Given the description of an element on the screen output the (x, y) to click on. 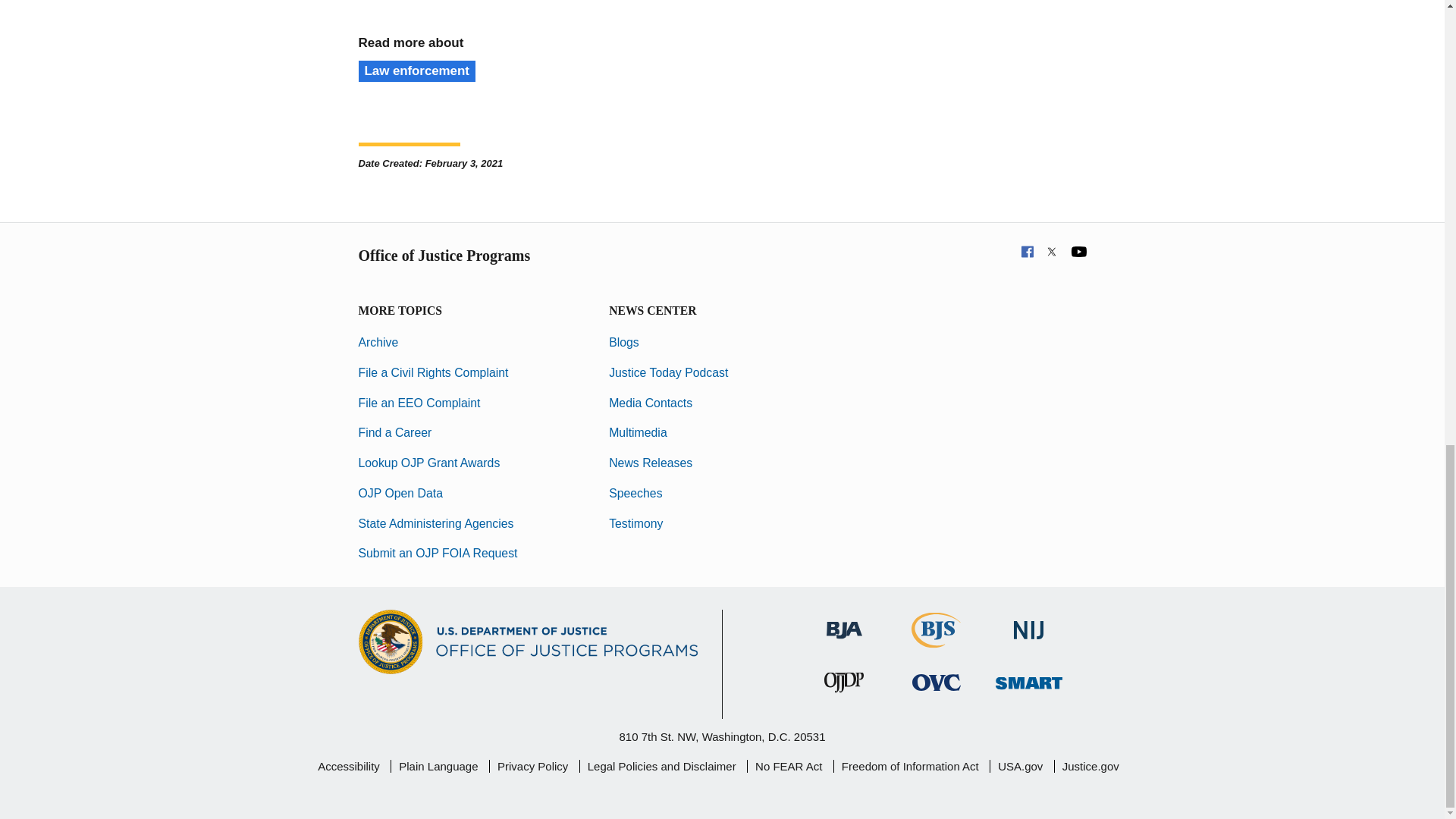
Lookup OJP Grant Awards (428, 462)
File a Civil Rights Complaint (433, 372)
OJP Open Data (400, 492)
Law enforcement (416, 70)
Find a Career (394, 431)
File an EEO Complaint (419, 402)
Archive (377, 341)
